Given the description of an element on the screen output the (x, y) to click on. 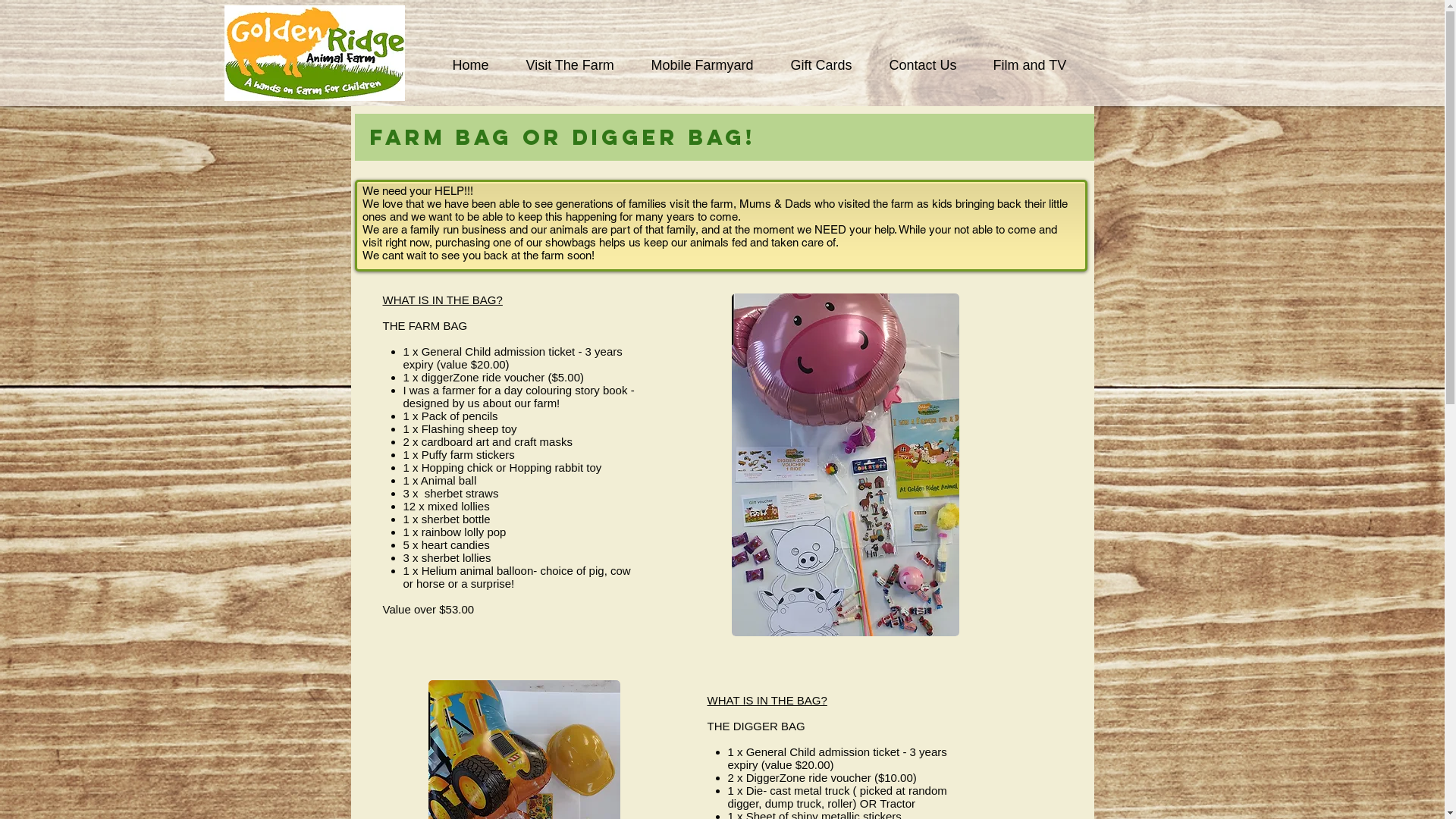
AnimalFarm Sydney.jpg Element type: hover (314, 52)
Mobile Farmyard Element type: text (709, 64)
Visit The Farm Element type: text (576, 64)
Home Element type: text (477, 64)
Contact Us Element type: text (930, 64)
Film and TV Element type: text (1036, 64)
Gift Cards Element type: text (828, 64)
